Given the description of an element on the screen output the (x, y) to click on. 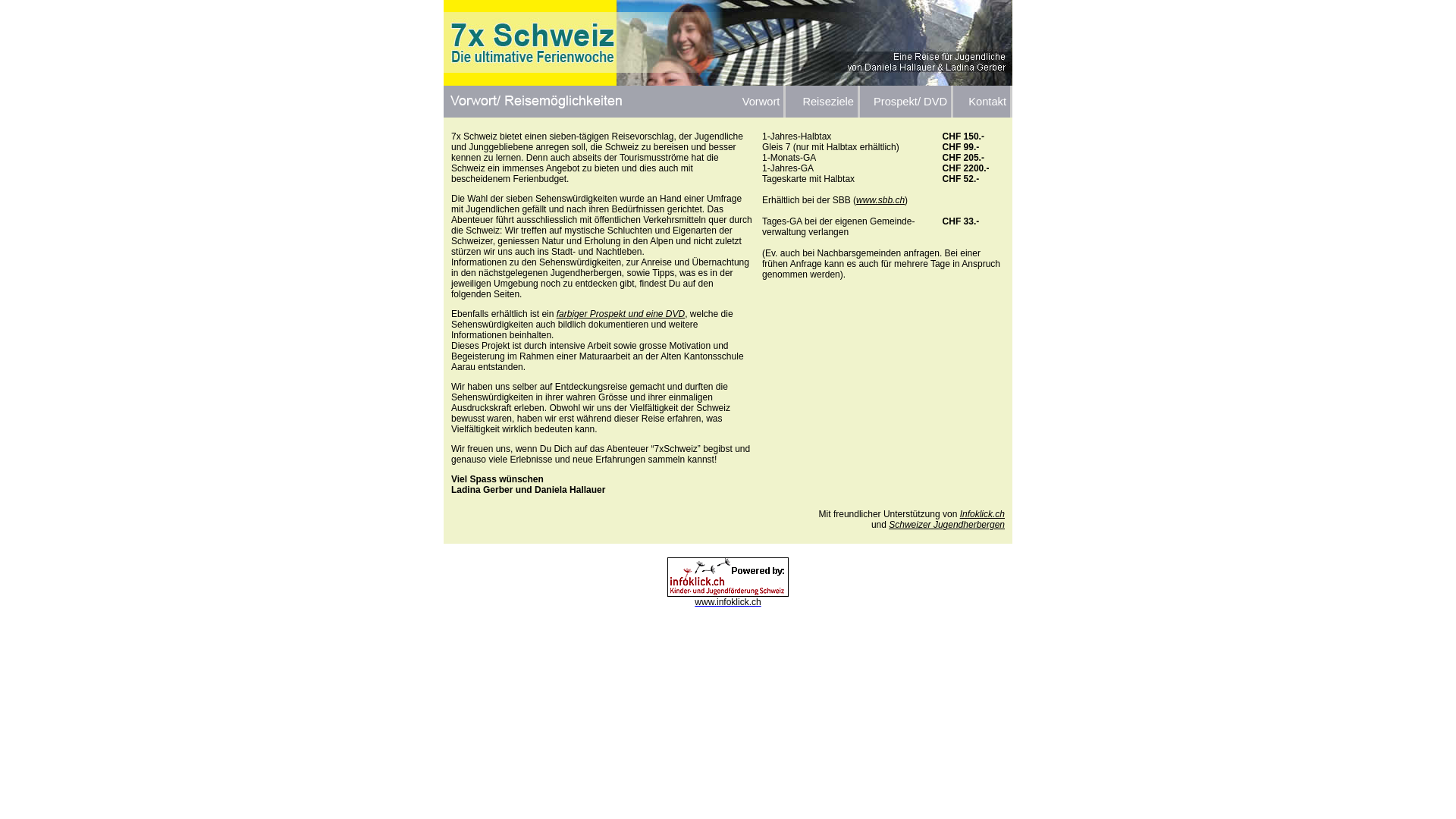
Infoklick.ch Element type: text (982, 513)
Kontakt Element type: text (981, 101)
Schweizer Jugendherbergen Element type: text (946, 524)
Prospekt/ DVD Element type: text (904, 101)
farbiger Prospekt und eine DVD Element type: text (620, 313)
www.infoklick.ch Element type: text (727, 596)
Vorwort Element type: text (756, 101)
www.sbb.ch Element type: text (880, 199)
Reiseziele Element type: text (821, 101)
